Given the description of an element on the screen output the (x, y) to click on. 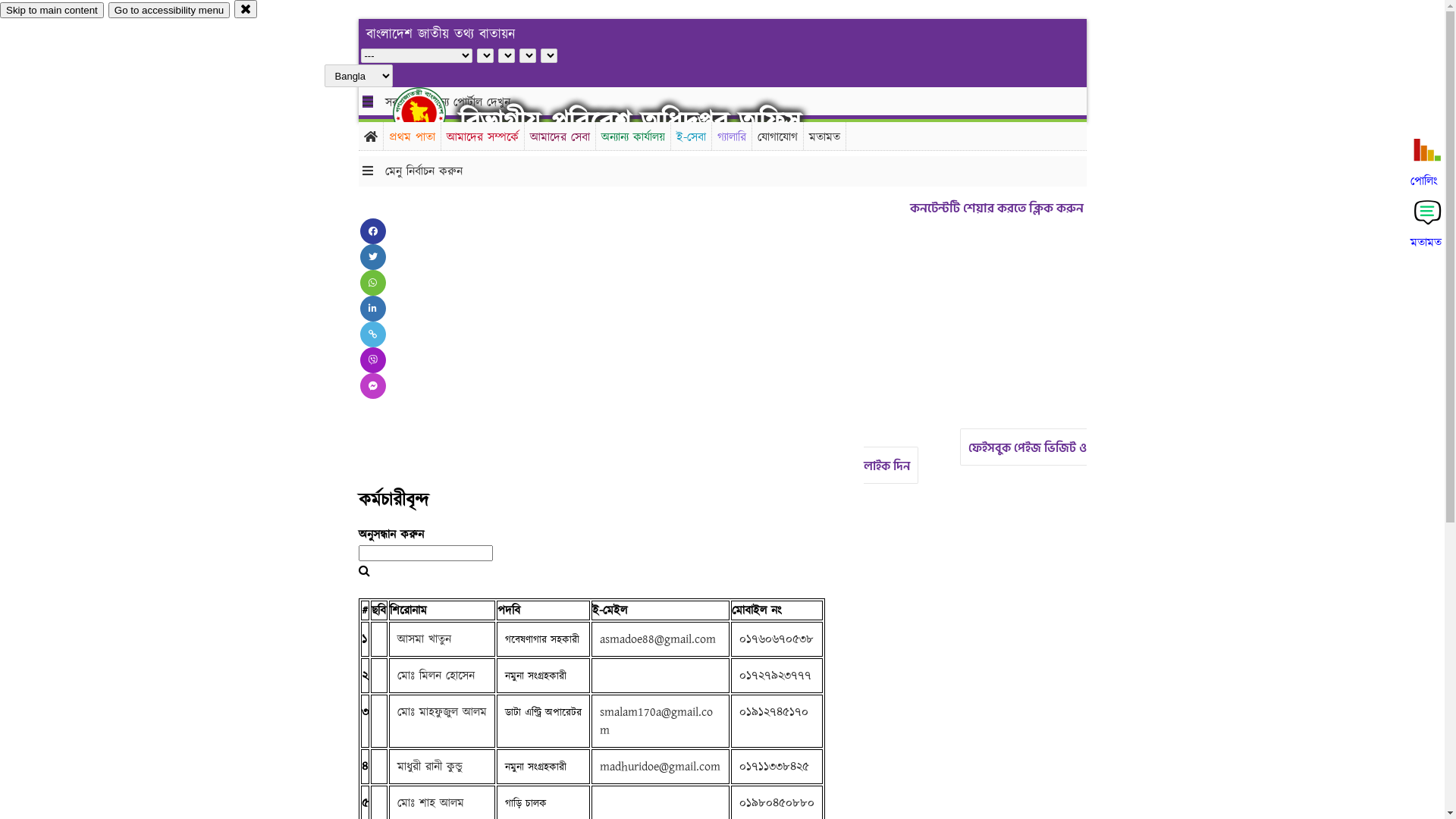

                
             Element type: hover (431, 112)
Go to accessibility menu Element type: text (168, 10)
asmadoe88@gmail.com Element type: text (657, 638)
madhuridoe@gmail.com Element type: text (659, 766)
smalam170a@gmail.com Element type: text (655, 720)
close Element type: hover (245, 9)
Skip to main content Element type: text (51, 10)
